Given the description of an element on the screen output the (x, y) to click on. 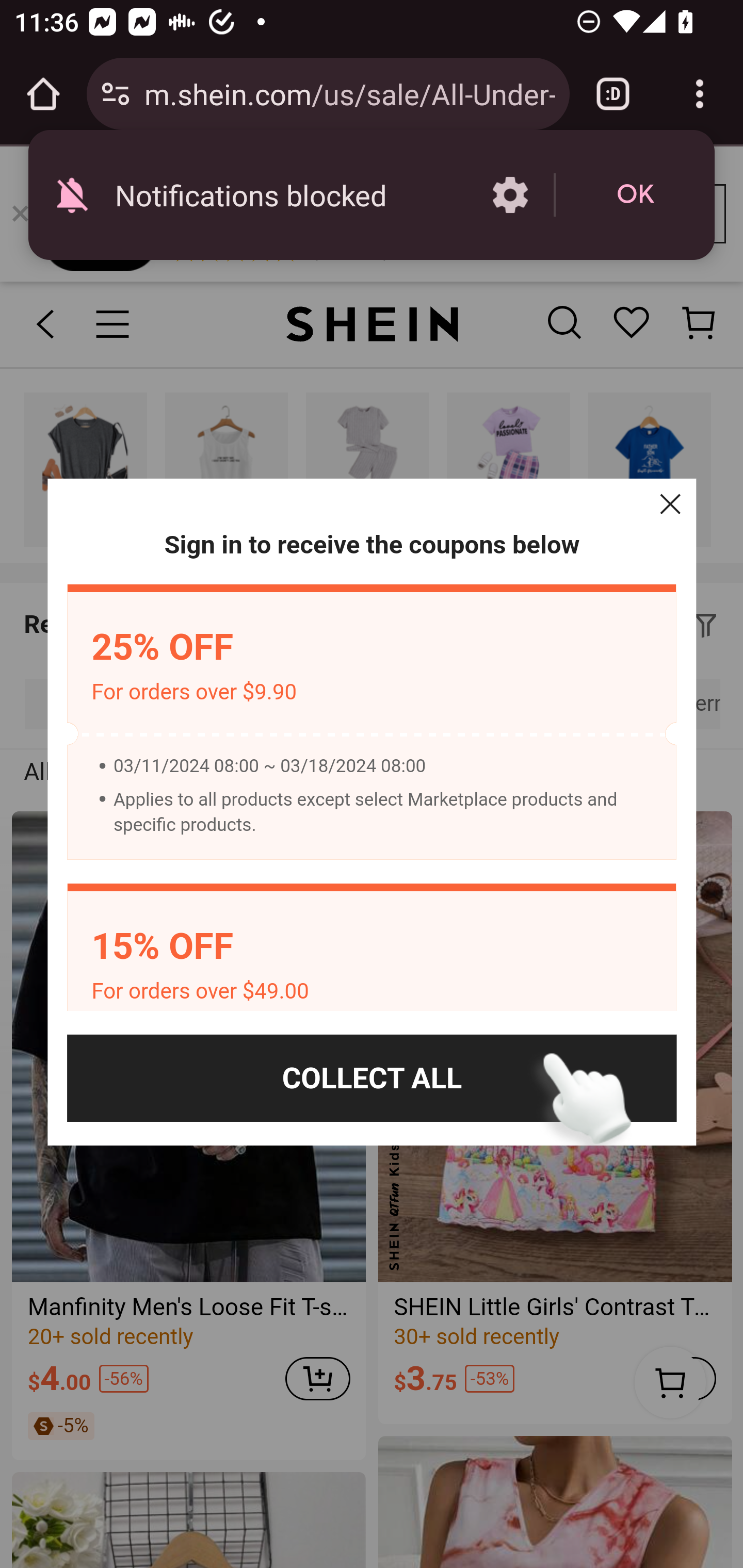
Open the home page (43, 93)
Connection is secure (115, 93)
Switch or close tabs (612, 93)
Customize and control Google Chrome (699, 93)
OK (634, 195)
More options in the Notifications blocked (509, 195)
Close (669, 503)
COLLECT ALL (371, 1077)
